Given the description of an element on the screen output the (x, y) to click on. 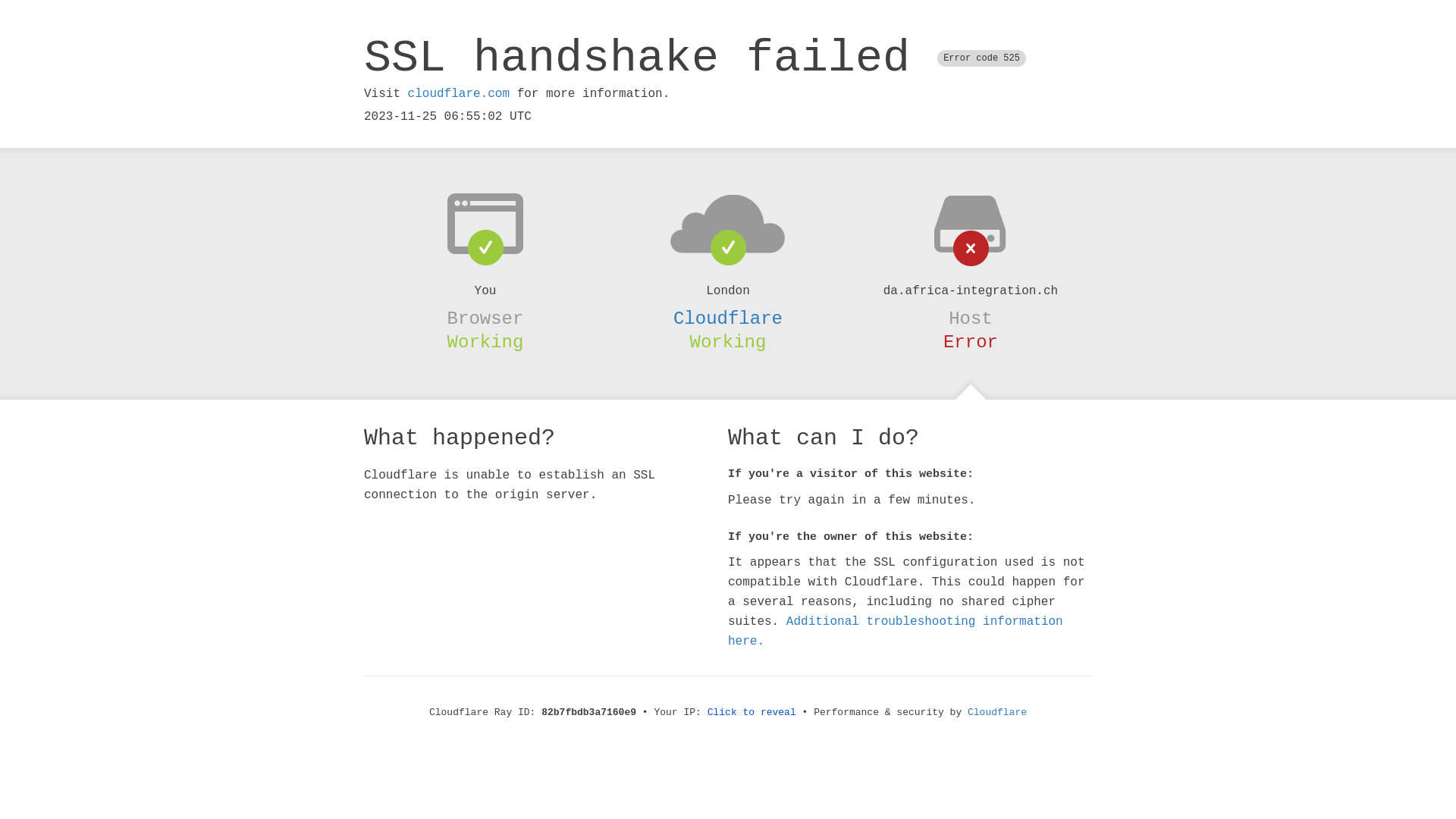
Click to reveal Element type: text (751, 712)
Cloudflare Element type: text (996, 712)
Additional troubleshooting information here. Element type: text (895, 631)
Cloudflare Element type: text (727, 318)
cloudflare.com Element type: text (458, 93)
